Given the description of an element on the screen output the (x, y) to click on. 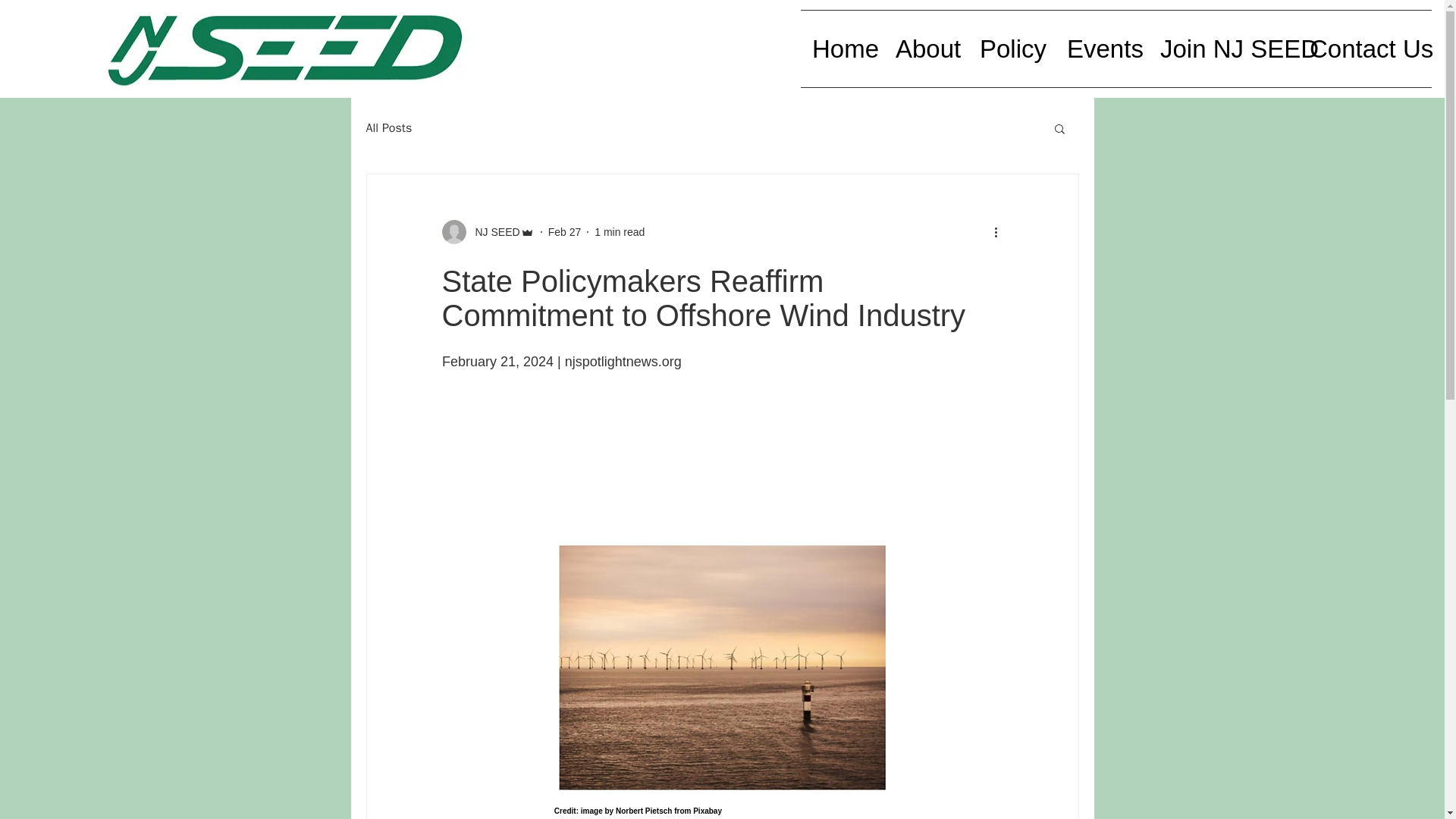
Policy (1011, 48)
NJSEED Logo.png (288, 48)
NJ SEED (492, 232)
Feb 27 (564, 232)
Home (841, 48)
Contact Us (1364, 48)
1 min read (619, 232)
All Posts (388, 127)
Join NJ SEED (1223, 48)
Events (1101, 48)
About (925, 48)
NJ SEED (487, 232)
